Given the description of an element on the screen output the (x, y) to click on. 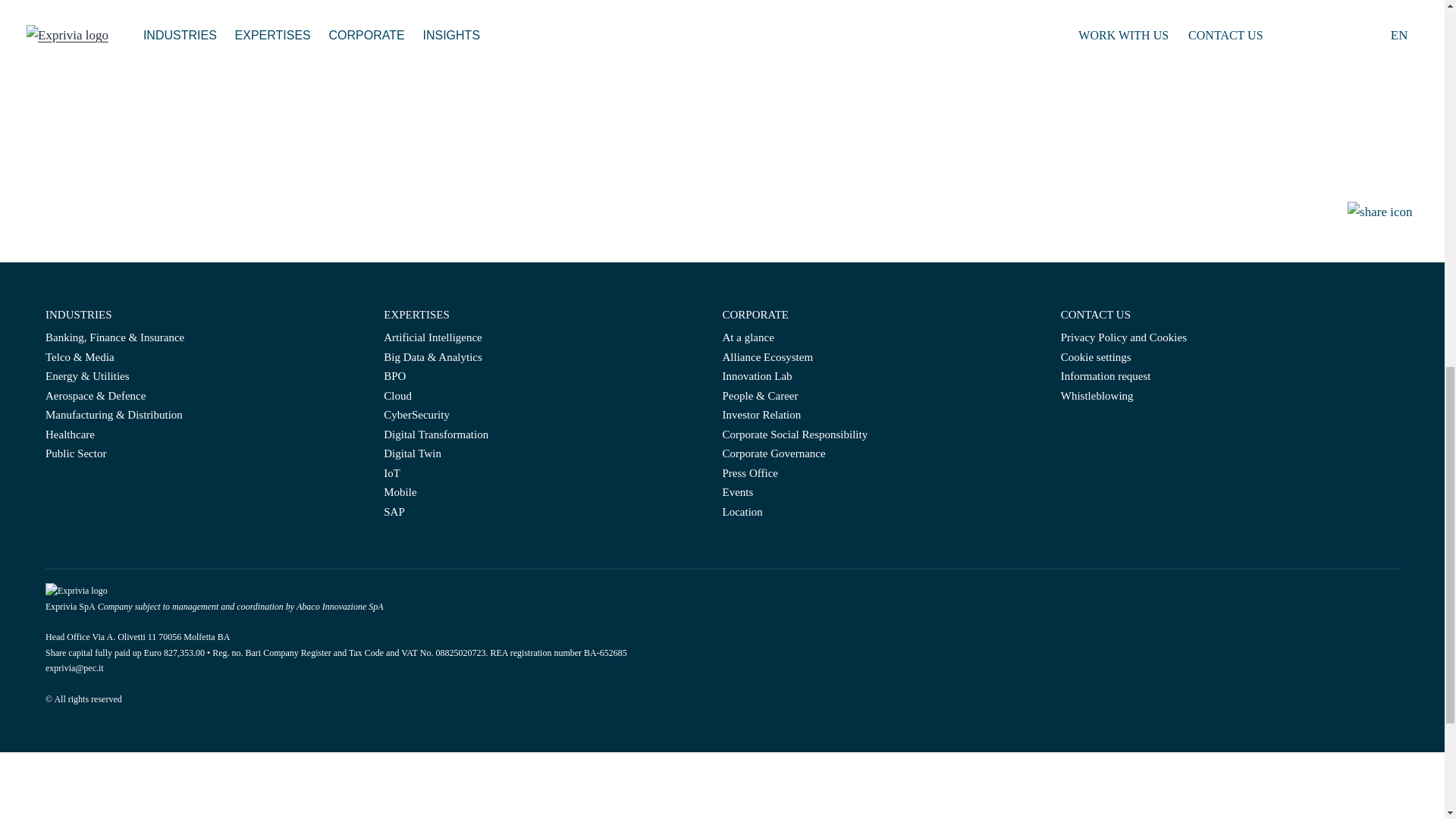
Youtube (1100, 428)
Twitter (1088, 428)
Facebook (1066, 428)
LinkedIn (1077, 428)
